Given the description of an element on the screen output the (x, y) to click on. 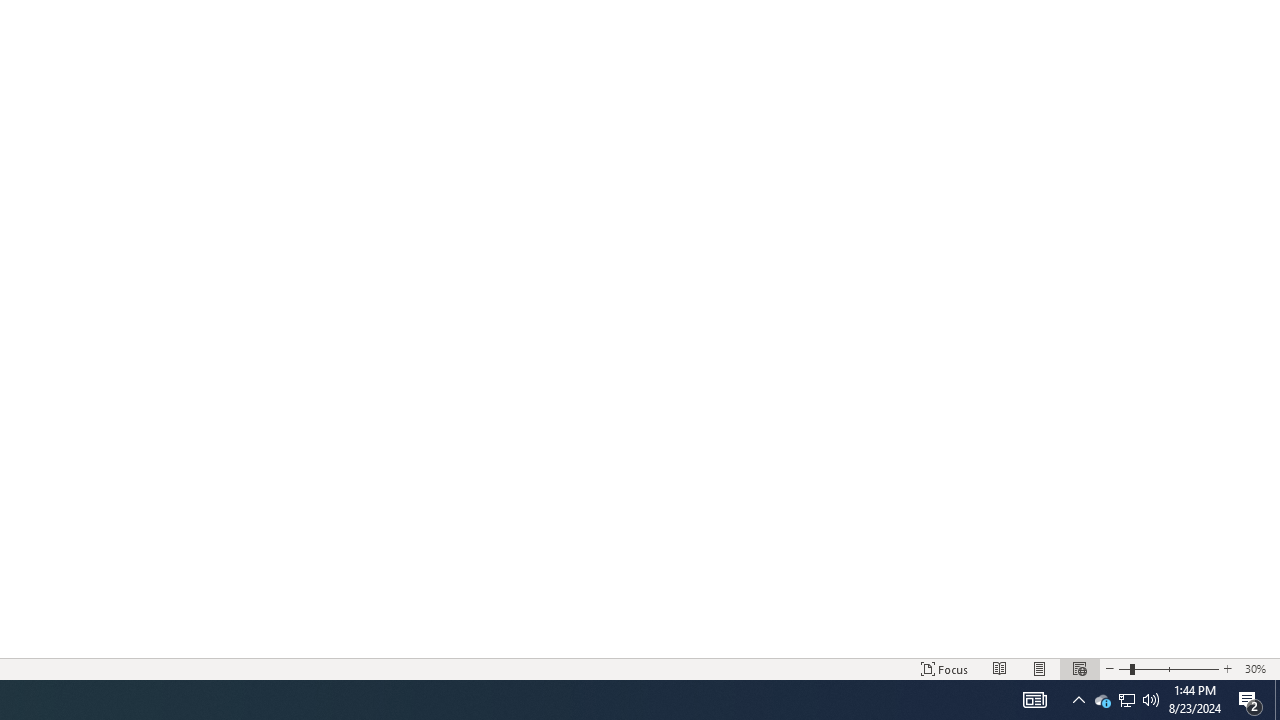
Zoom 30% (1258, 668)
